Given the description of an element on the screen output the (x, y) to click on. 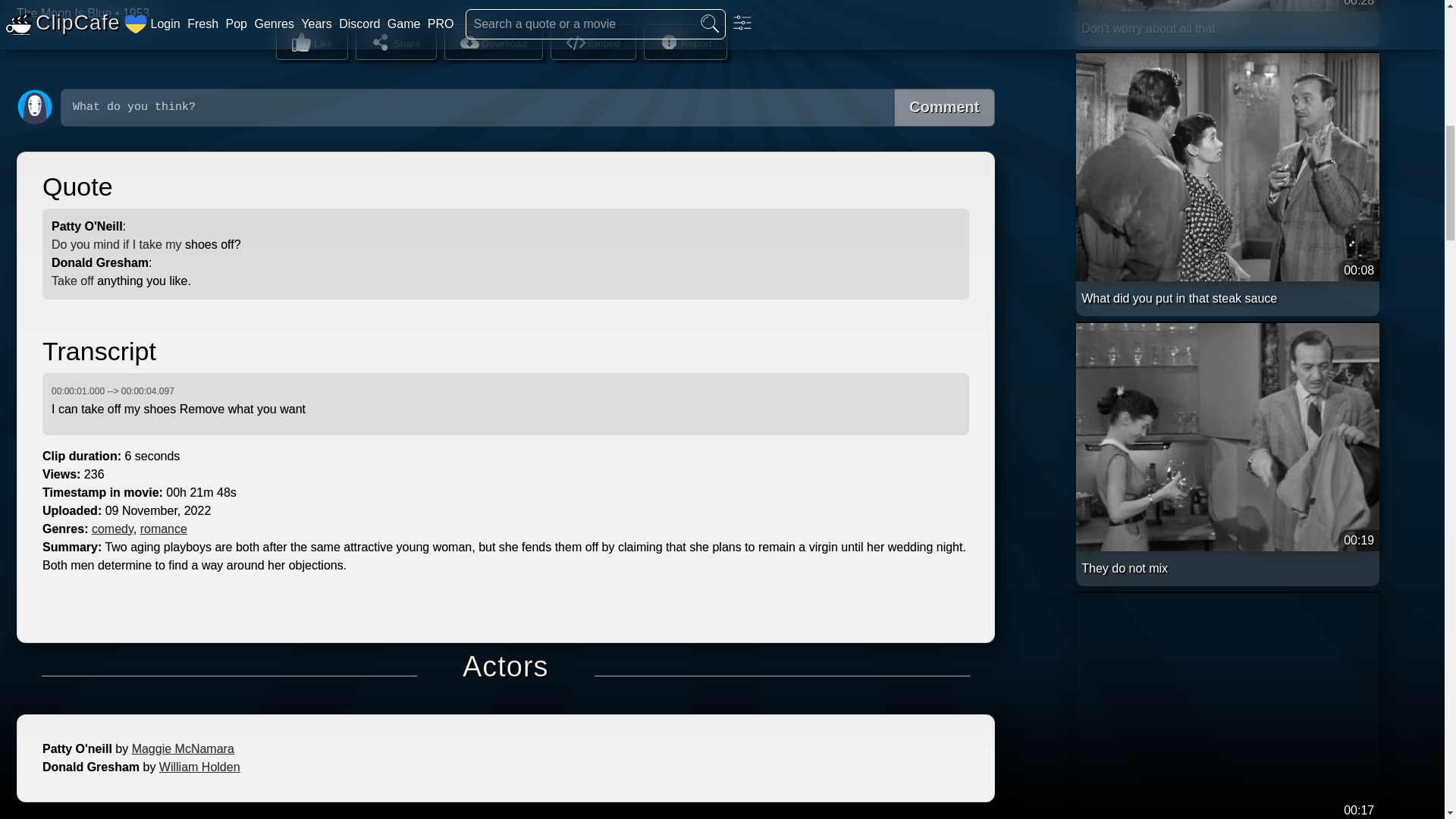
The Moon Is Blue (64, 12)
Share the Video Clip (395, 41)
Download the Video (493, 41)
Get Embed Code (593, 41)
Give Like (311, 41)
1953 (135, 12)
Share (395, 41)
Like (311, 41)
